Given the description of an element on the screen output the (x, y) to click on. 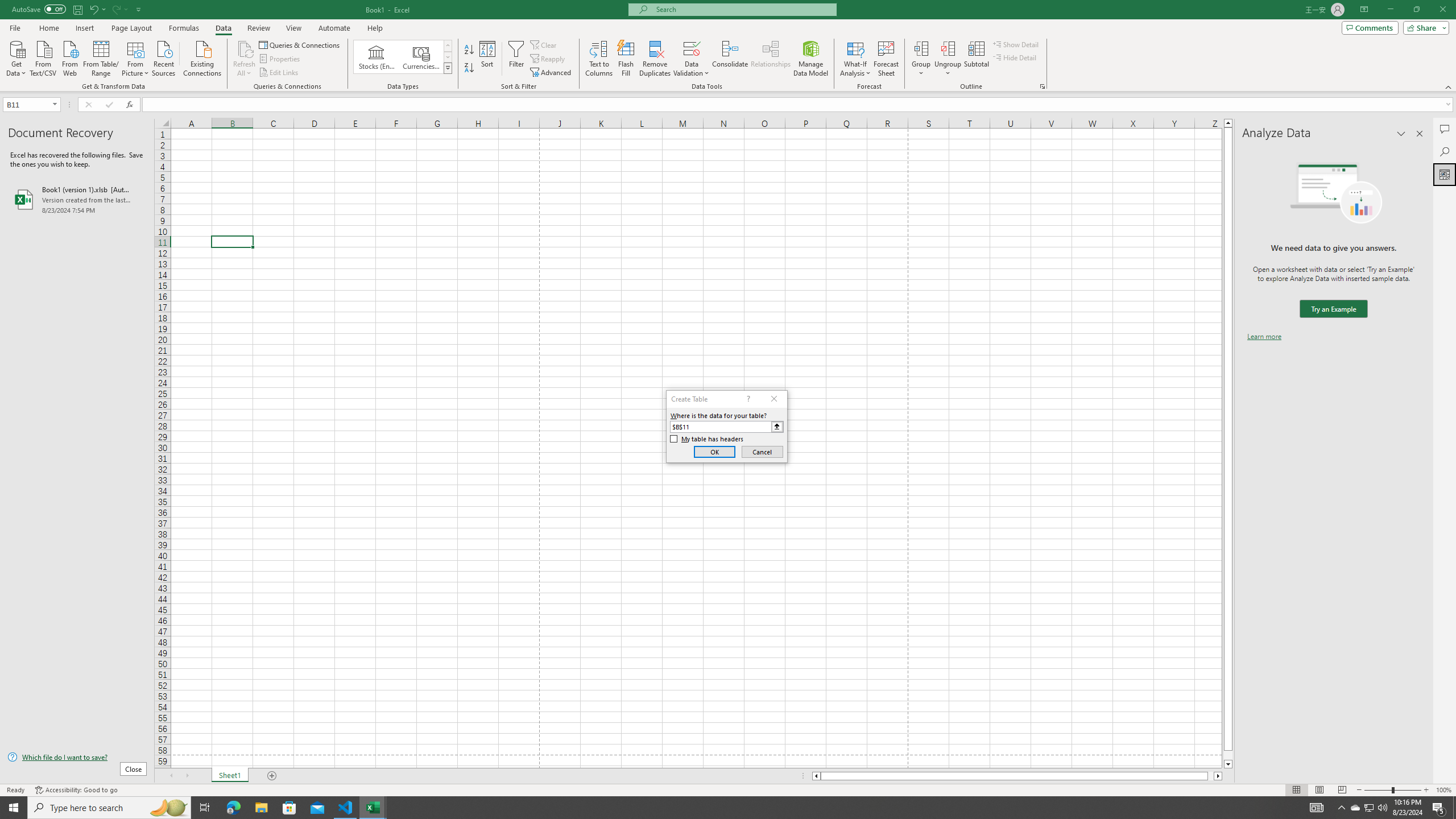
Sort Z to A (469, 67)
Consolidate... (729, 58)
Analyze Data (1444, 173)
Reapply (548, 58)
Sort... (487, 58)
Advanced... (551, 72)
Row Down (448, 56)
From Web (69, 57)
